Given the description of an element on the screen output the (x, y) to click on. 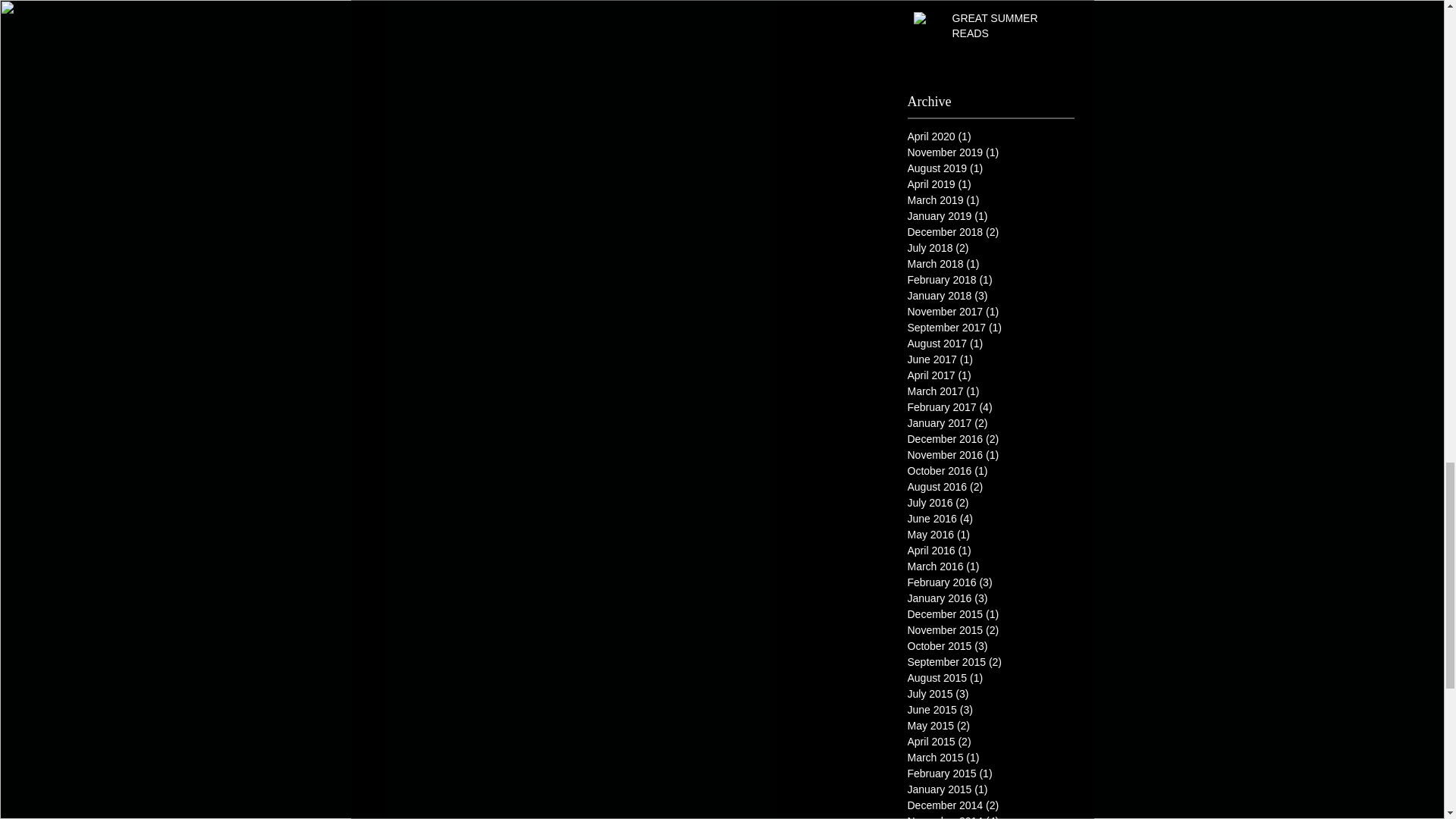
GREAT SUMMER READS (1006, 28)
